Given the description of an element on the screen output the (x, y) to click on. 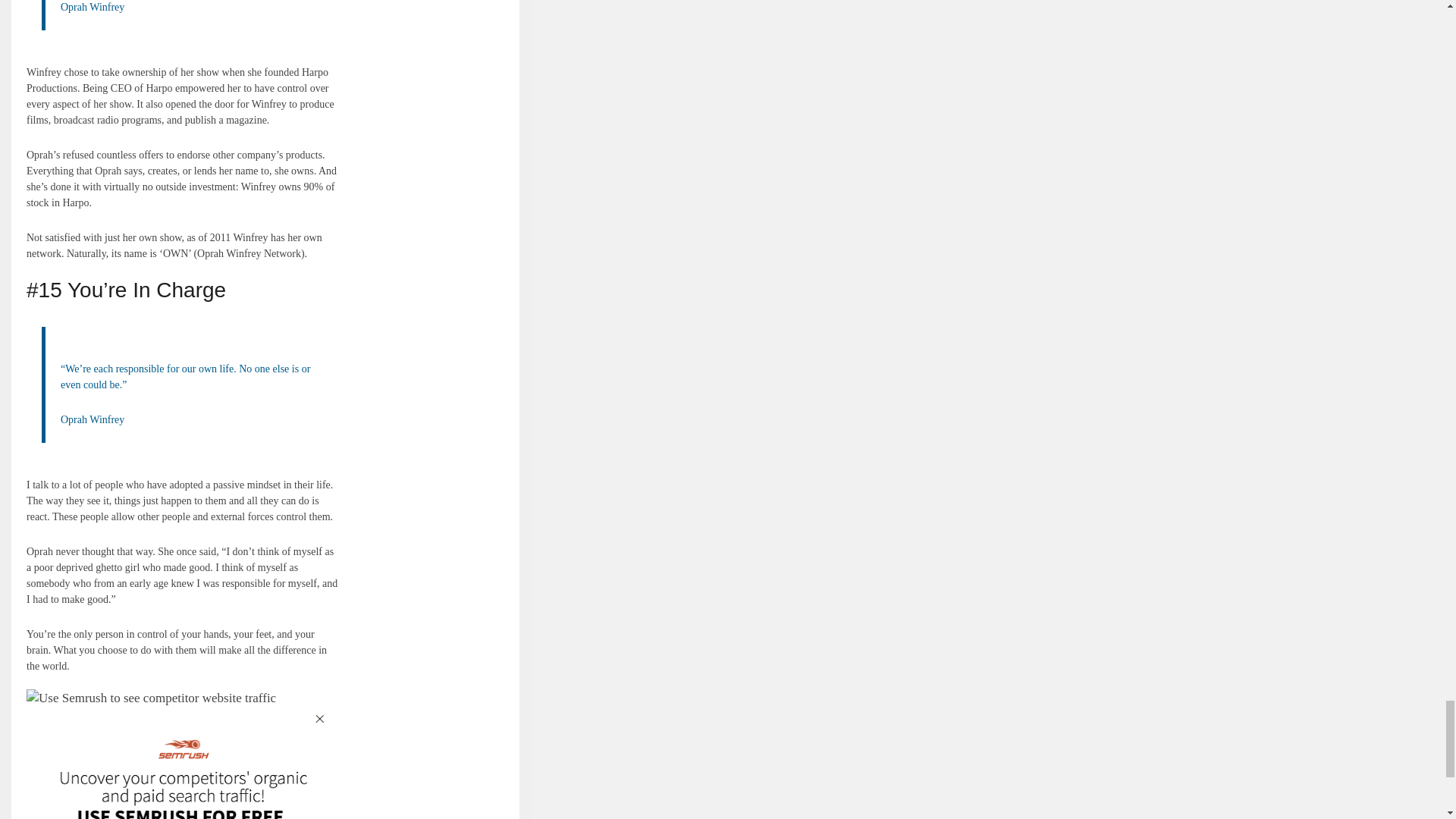
Use Semrush to see competitor website traffic (151, 698)
Use Semrush to see competitor website traffic (183, 763)
